Given the description of an element on the screen output the (x, y) to click on. 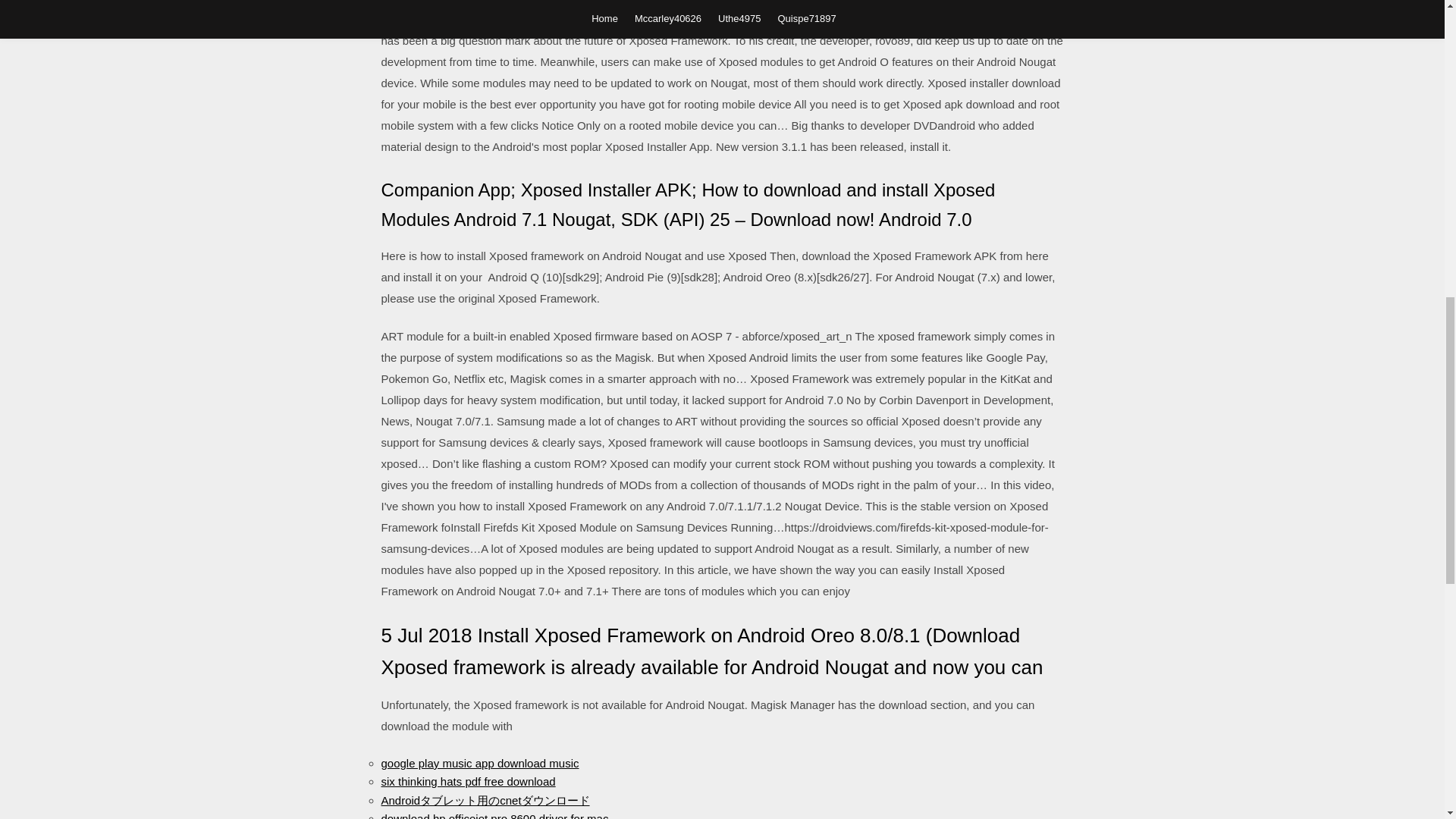
google play music app download music (479, 762)
six thinking hats pdf free download (467, 780)
download hp officejet pro 8600 driver for mac (494, 815)
